Given the description of an element on the screen output the (x, y) to click on. 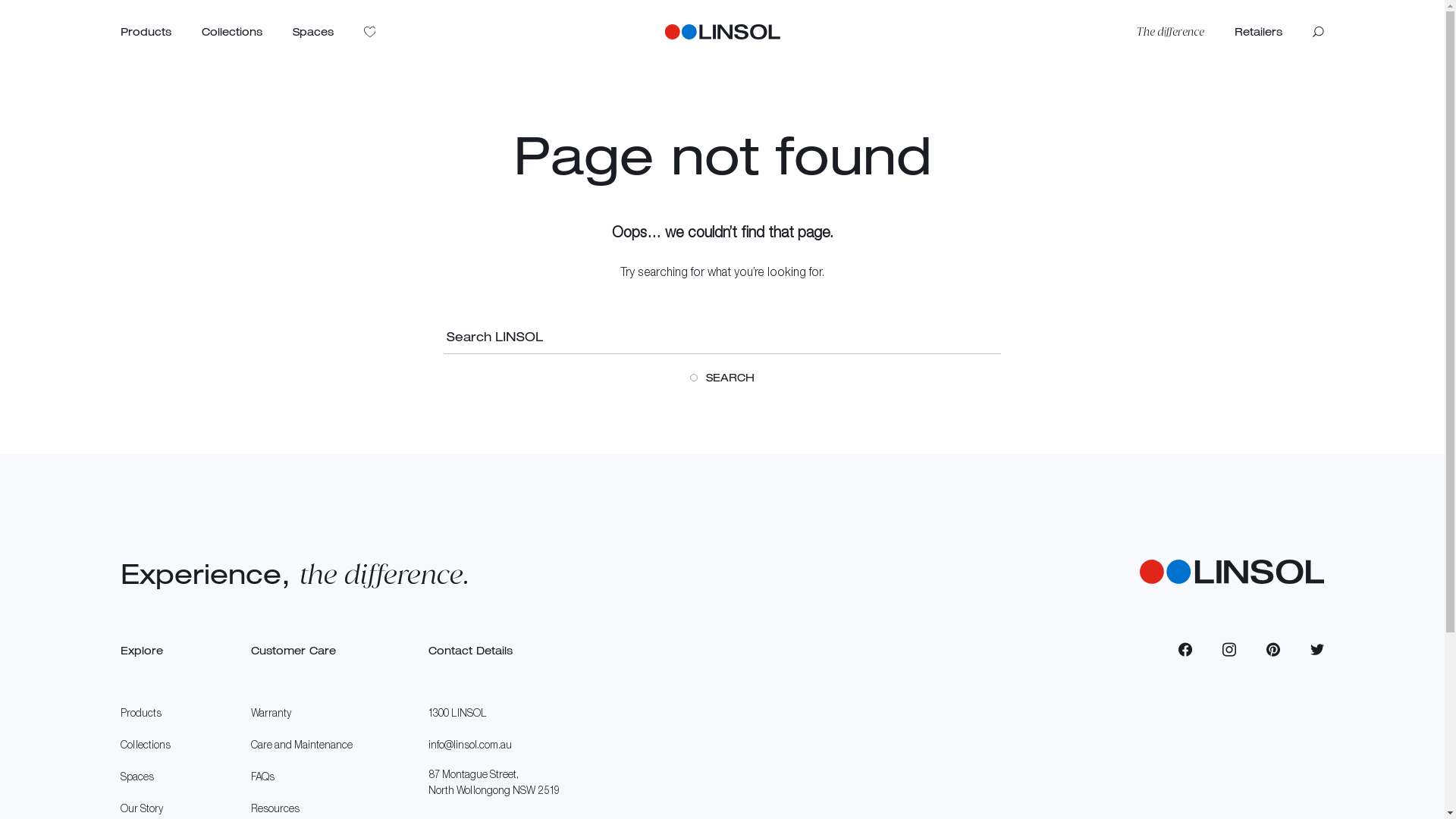
Spaces Element type: text (147, 776)
SEARCH Element type: text (722, 377)
Products Element type: text (147, 712)
Spaces Element type: text (312, 31)
Return to homepage Element type: hover (1231, 575)
SKIP TO CONTENT Element type: text (6, 3)
The difference Element type: text (1170, 31)
Wishlist Element type: hover (370, 31)
Search Element type: hover (1318, 31)
Care and Maintenance Element type: text (301, 744)
Return to homepage Element type: hover (721, 31)
Products Element type: text (145, 31)
Retailers Element type: text (1258, 31)
Collections Element type: text (231, 31)
FAQs Element type: text (301, 776)
Collections Element type: text (147, 744)
info@linsol.com.au Element type: text (493, 744)
1300 LINSOL Element type: text (493, 712)
Warranty Element type: text (301, 712)
